Given the description of an element on the screen output the (x, y) to click on. 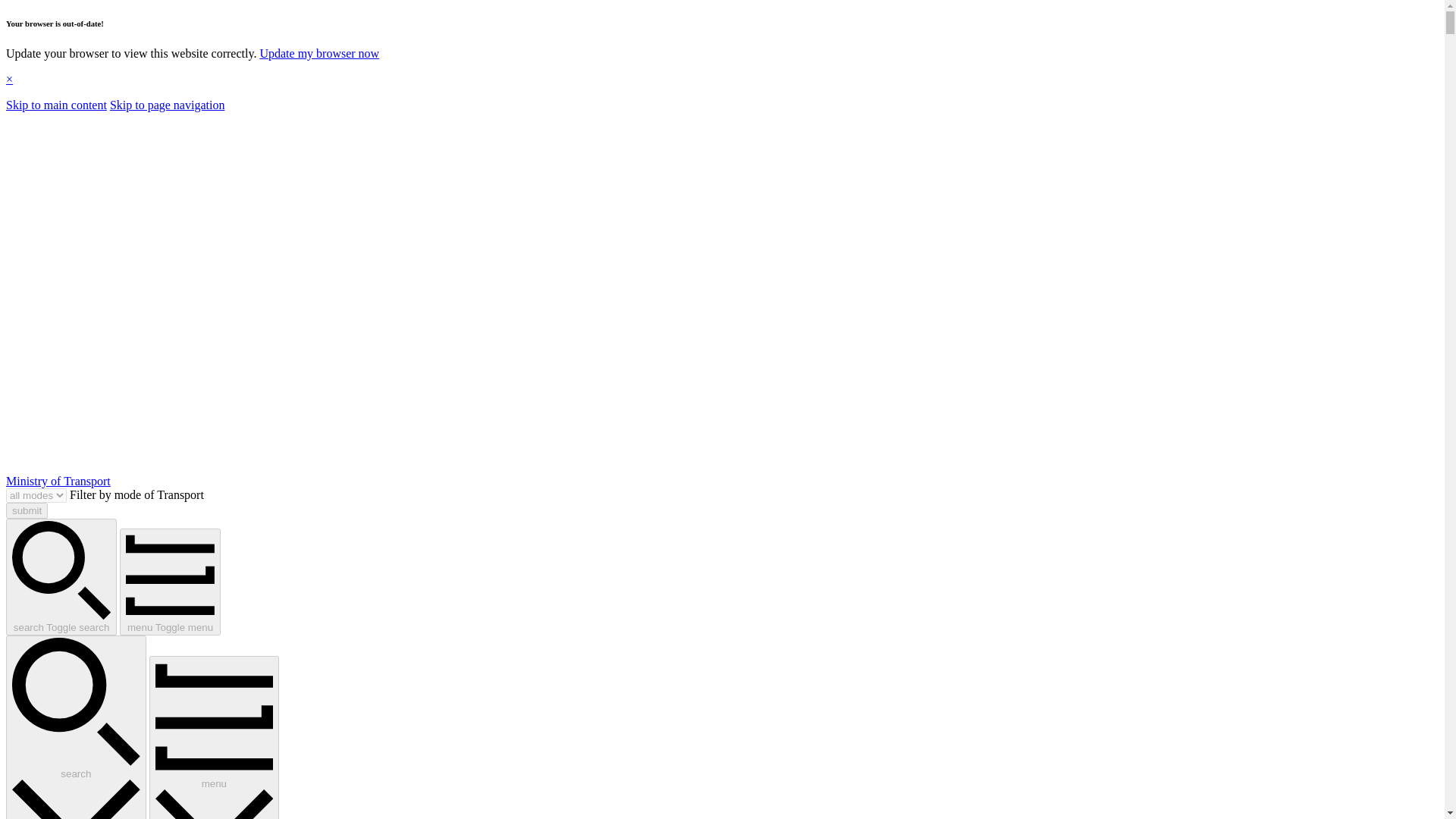
Close (9, 78)
menu Toggle menu (170, 581)
Skip to main content (55, 104)
Skip to page navigation (167, 104)
search close Toggle search (76, 727)
Update my browser now (318, 52)
menu close Toggle menu (214, 737)
submit (26, 510)
search Toggle search (60, 576)
